Given the description of an element on the screen output the (x, y) to click on. 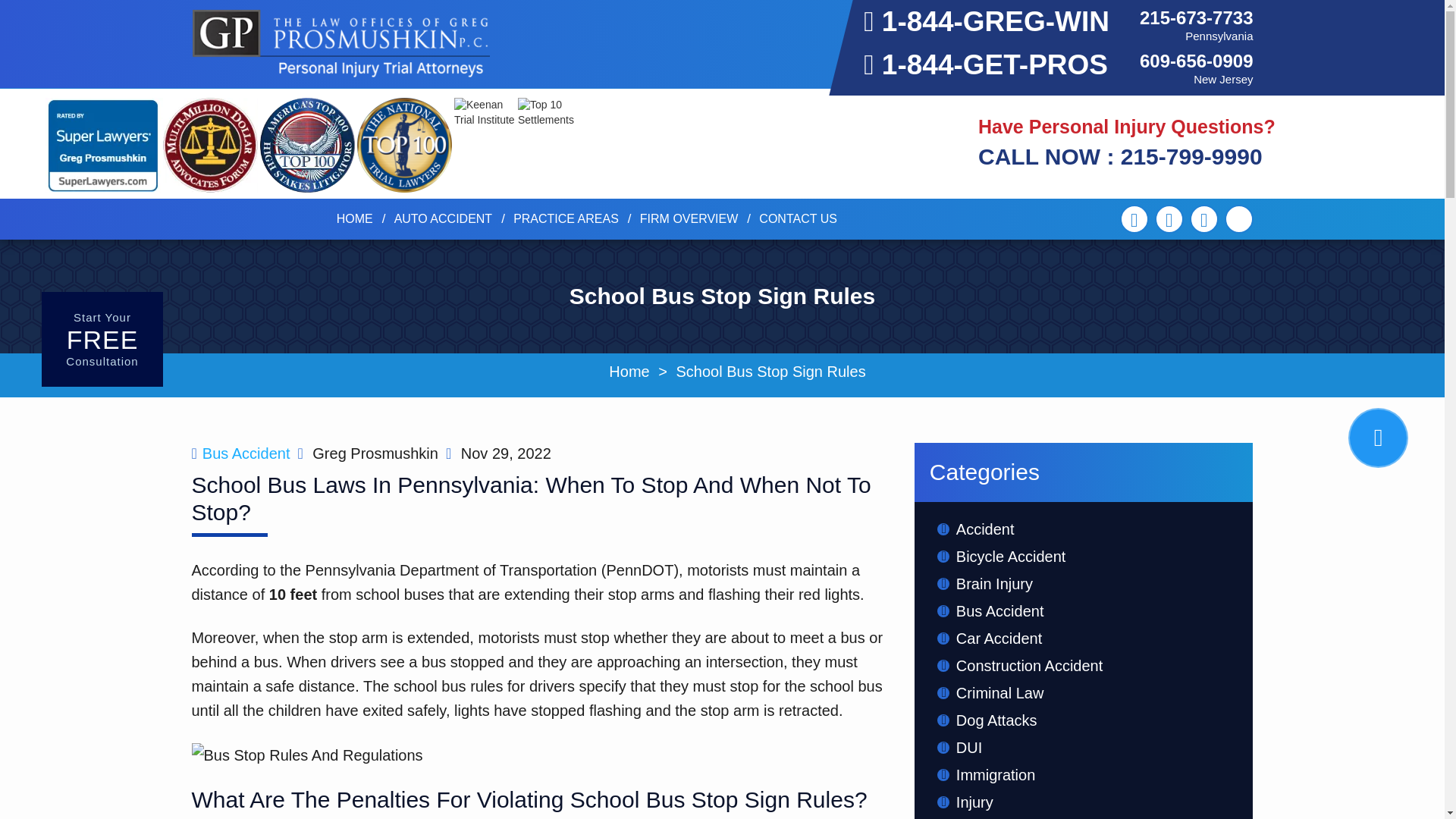
Pennsylvania: 215-673-7733 (1196, 17)
215-799-9990 (1120, 156)
609-656-0909 (1196, 60)
Have Personal Injury Questions? (1126, 126)
1-844-GREG-WIN (986, 20)
AUTO ACCIDENT (443, 218)
New Jersey: 609-656-0909 (1196, 60)
1-844-GET-PROS (985, 64)
Home (354, 218)
215-673-7733 (1196, 17)
